Given the description of an element on the screen output the (x, y) to click on. 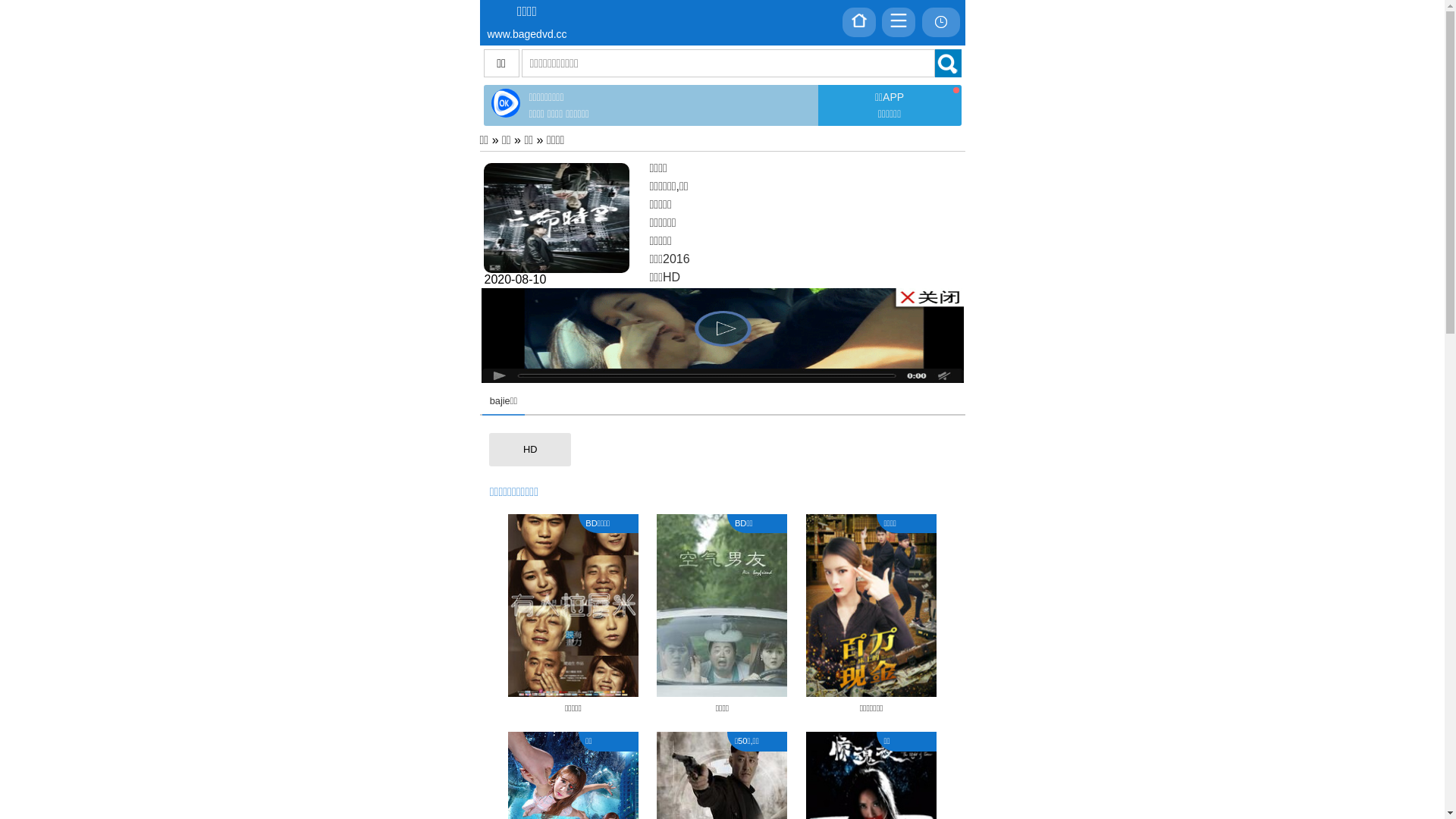
HD Element type: text (530, 449)
